Given the description of an element on the screen output the (x, y) to click on. 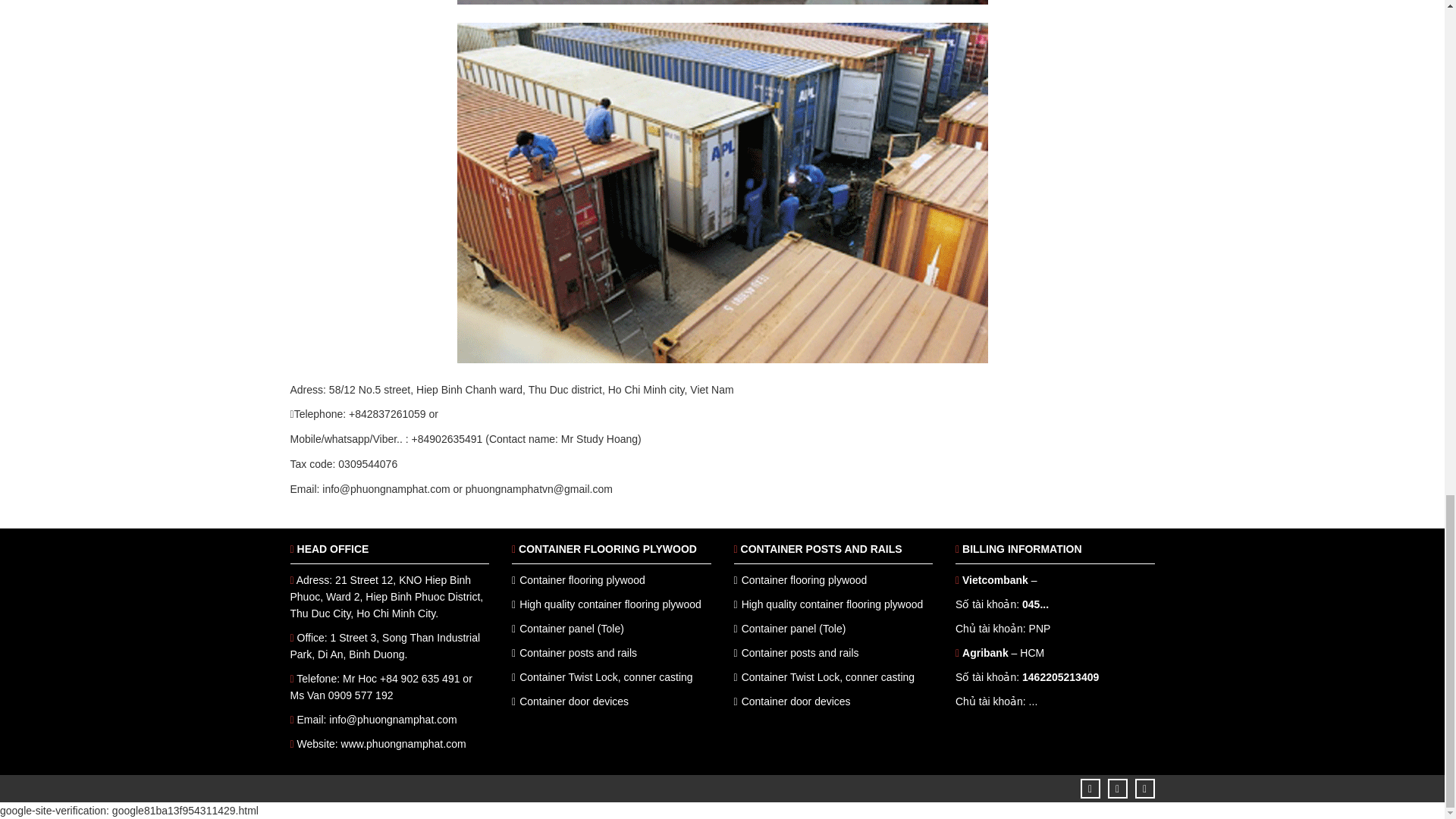
Container posts and rails (578, 653)
Container door devices (573, 701)
Container flooring plywood (582, 580)
High quality container flooring plywood (832, 604)
Container flooring plywood (804, 580)
Container Twist Lock, conner casting (606, 676)
High quality container flooring plywood (610, 604)
